Given the description of an element on the screen output the (x, y) to click on. 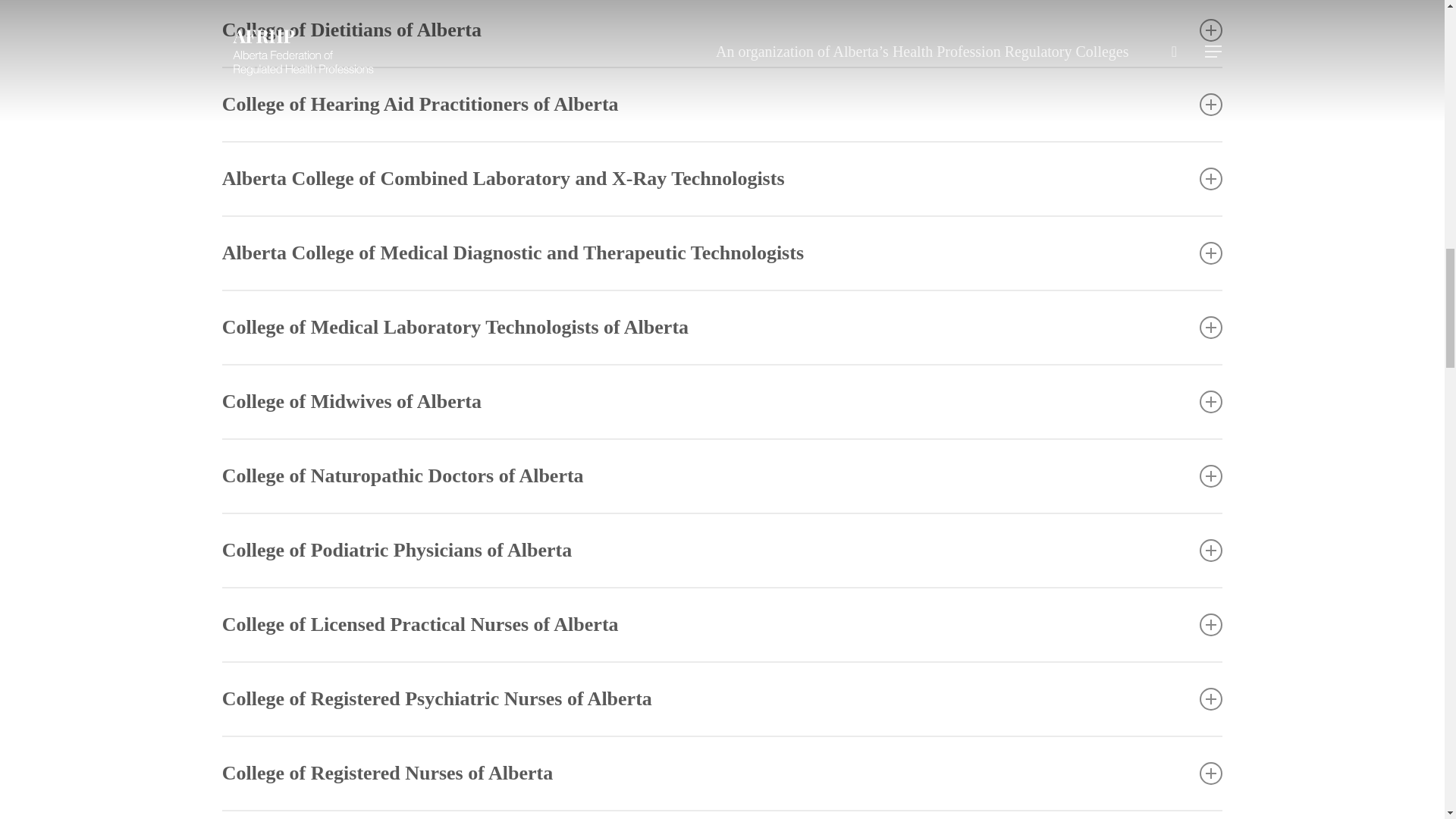
College of Medical Laboratory Technologists of Alberta (722, 327)
College of Midwives of Alberta (722, 401)
College of Podiatric Physicians of Alberta (722, 550)
College of Naturopathic Doctors of Alberta (722, 475)
College of Licensed Practical Nurses of Alberta (722, 624)
College of Dietitians of Alberta (722, 33)
College of Hearing Aid Practitioners of Alberta (722, 103)
